Given the description of an element on the screen output the (x, y) to click on. 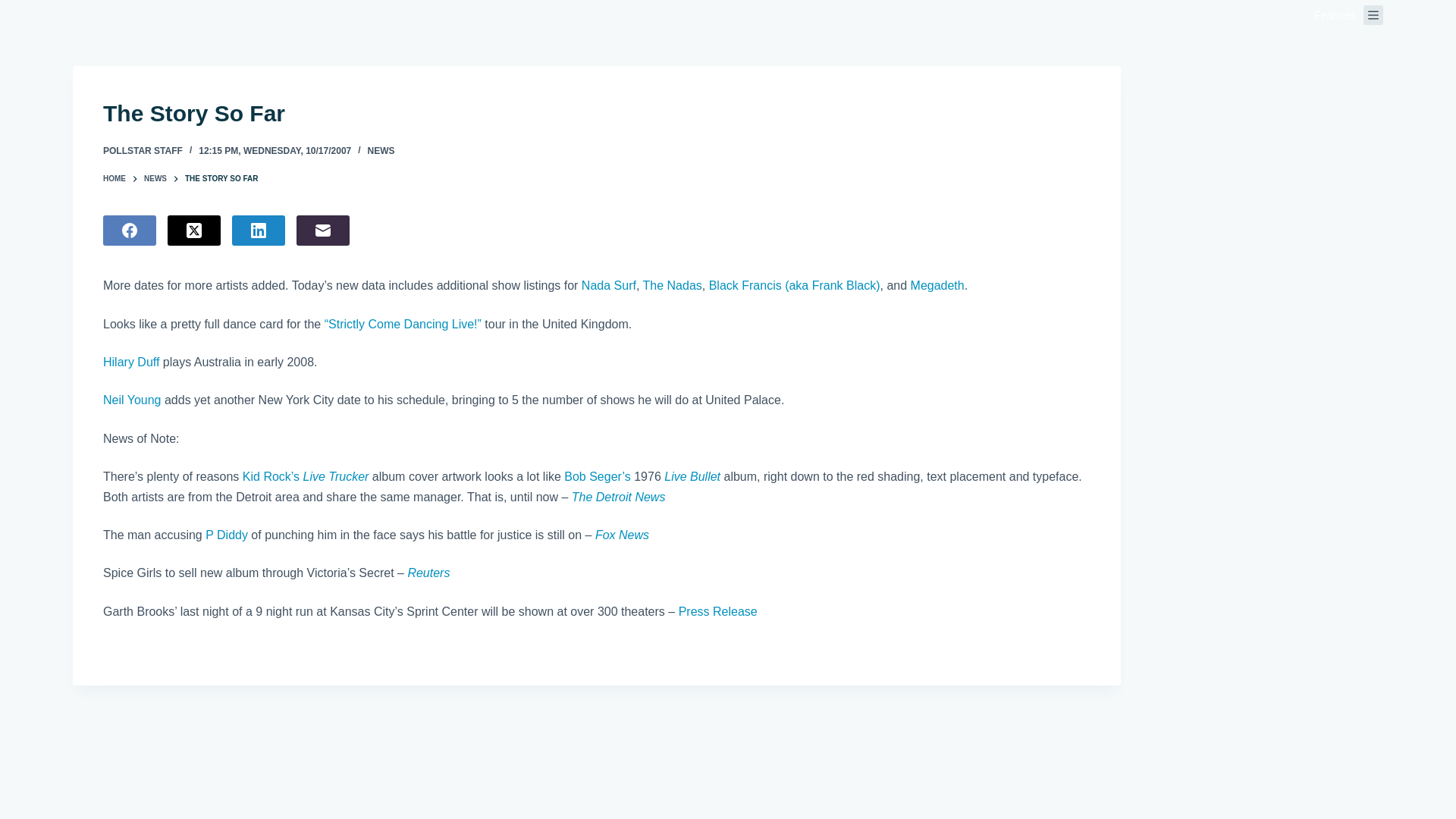
Skip to content (15, 7)
Posts by Pollstar Staff (143, 150)
The Story So Far (596, 113)
